Given the description of an element on the screen output the (x, y) to click on. 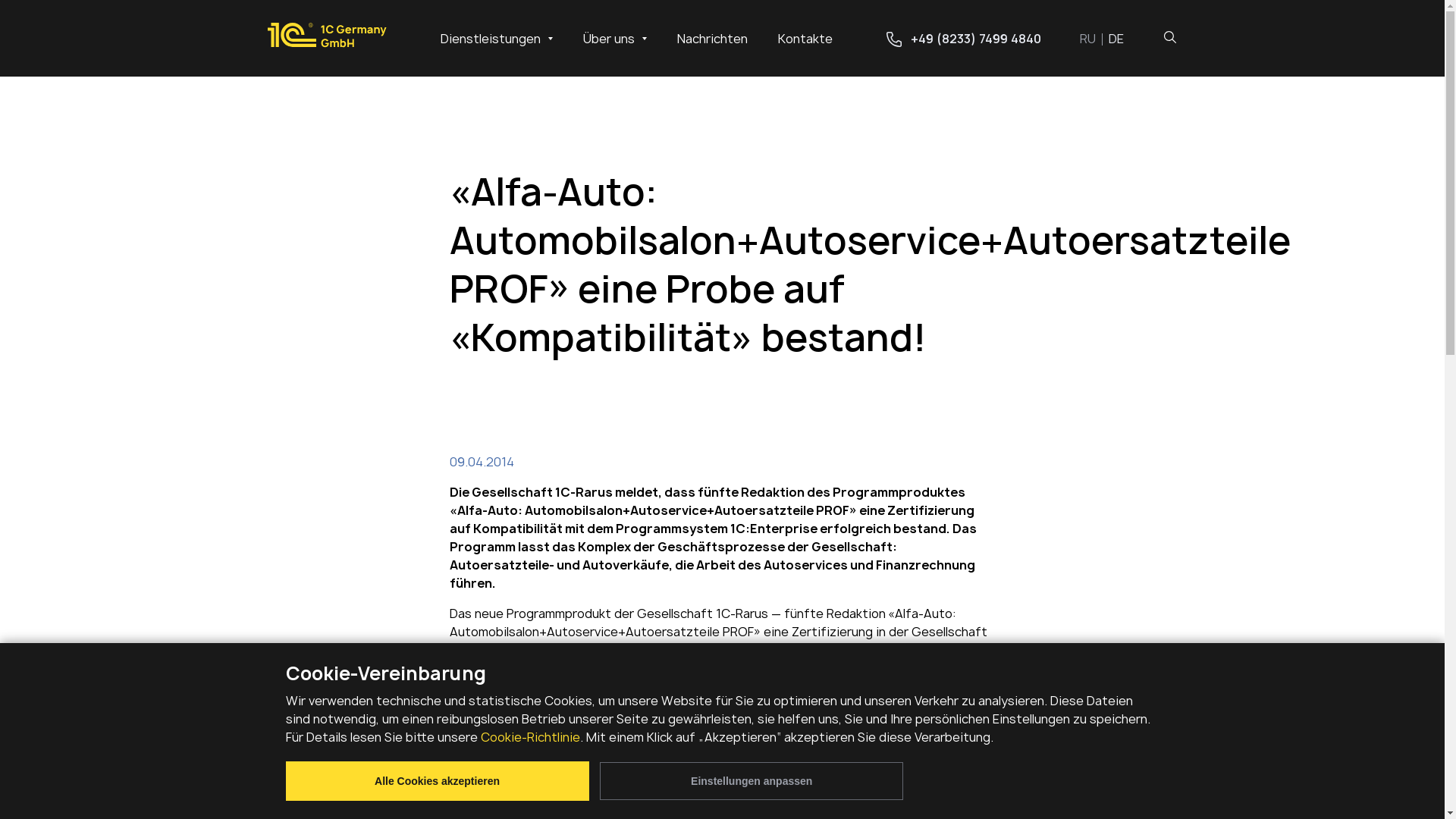
RU Element type: text (1093, 37)
Nachrichten Element type: text (711, 38)
Cookie-Richtlinie Element type: text (530, 736)
Dienstleistungen Element type: text (495, 37)
Kontakte Element type: text (804, 38)
+49 (8233) 7499 4840 Element type: text (962, 38)
Einstellungen anpassen Element type: text (751, 781)
Alle Cookies akzeptieren Element type: text (436, 780)
DE Element type: text (1115, 37)
